Given the description of an element on the screen output the (x, y) to click on. 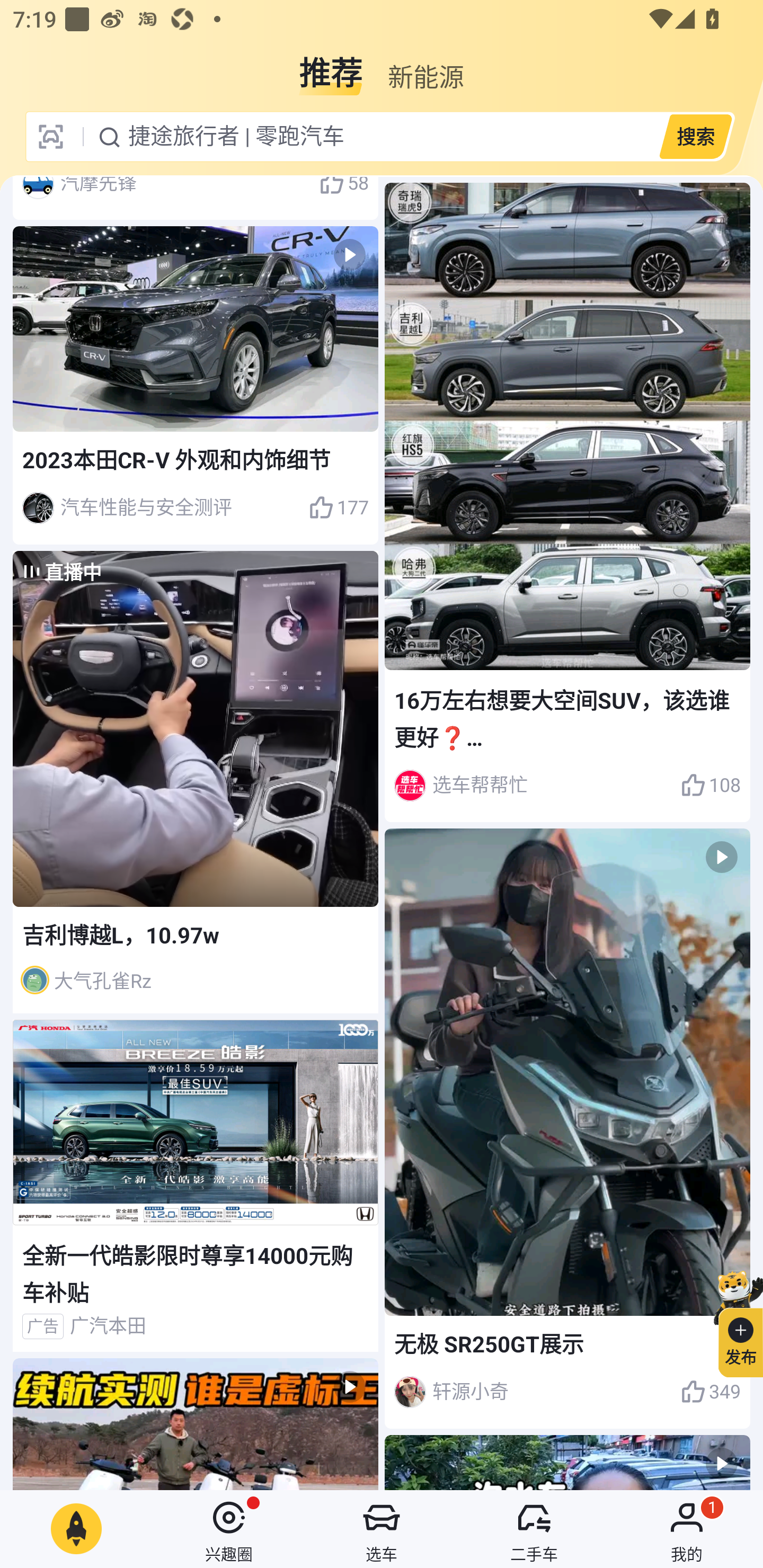
推荐 (330, 65)
新能源 (425, 65)
搜索 (695, 136)
 2023本田CR-V 外观和内饰细节 汽车性能与安全测评 177 (195, 384)
177 (338, 507)
直播中 吉利博越L，10.97w 大气孔雀Rz (195, 781)
108 (710, 785)
 无极 SR250GT展示 轩源小奇 349 (567, 1127)
全新一代皓影限时尊享14000元购车补贴 广告 广汽本田 (195, 1185)
发布 (732, 1321)
349 (710, 1391)
 兴趣圈 (228, 1528)
 选车 (381, 1528)
 二手车 (533, 1528)
 我的 (686, 1528)
